Given the description of an element on the screen output the (x, y) to click on. 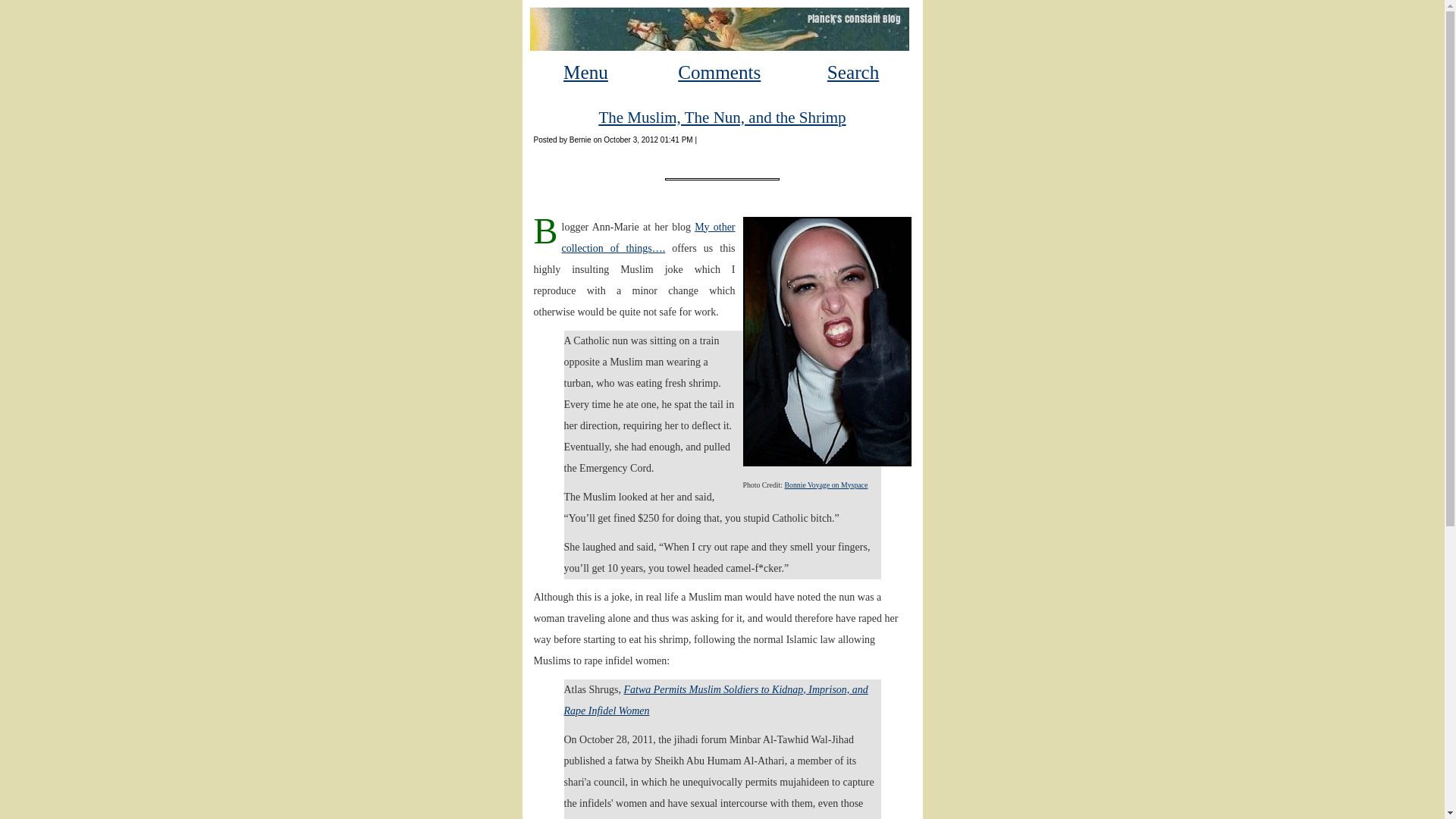
Comments (719, 72)
Bonnie Voyage on Myspace (825, 484)
The Muslim, The Nun, and the Shrimp (721, 117)
Search (853, 72)
Menu (585, 72)
